Given the description of an element on the screen output the (x, y) to click on. 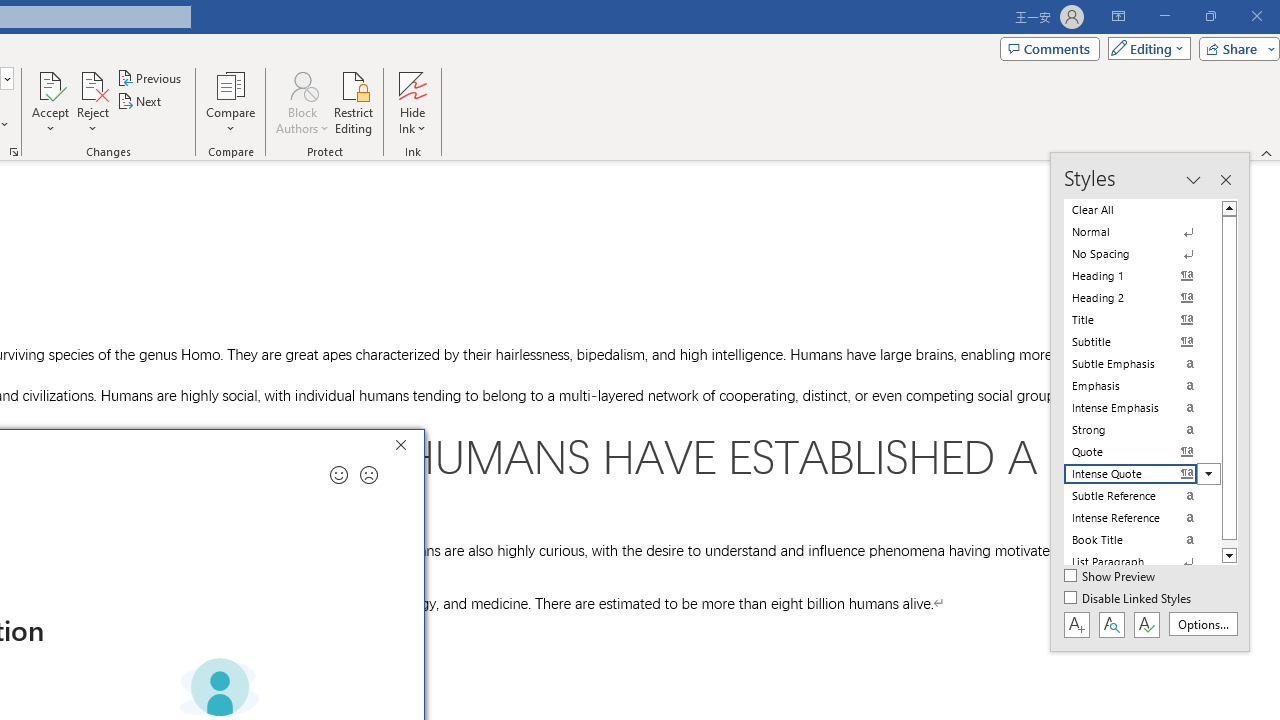
Accept and Move to Next (50, 84)
Compare (230, 102)
Reject and Move to Next (92, 84)
Clear All (1142, 209)
Normal (1142, 232)
Send a frown for feedback (369, 475)
